Given the description of an element on the screen output the (x, y) to click on. 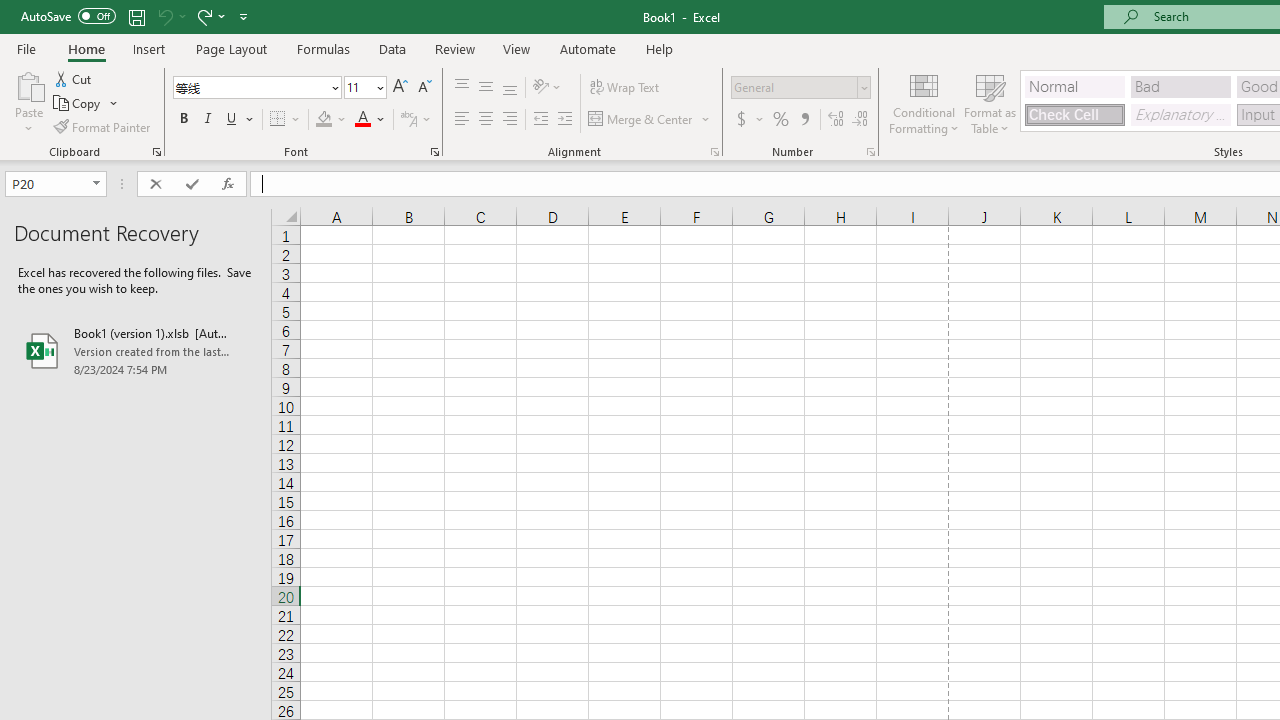
Office Clipboard... (156, 151)
Format Cell Number (870, 151)
Orientation (547, 87)
